Given the description of an element on the screen output the (x, y) to click on. 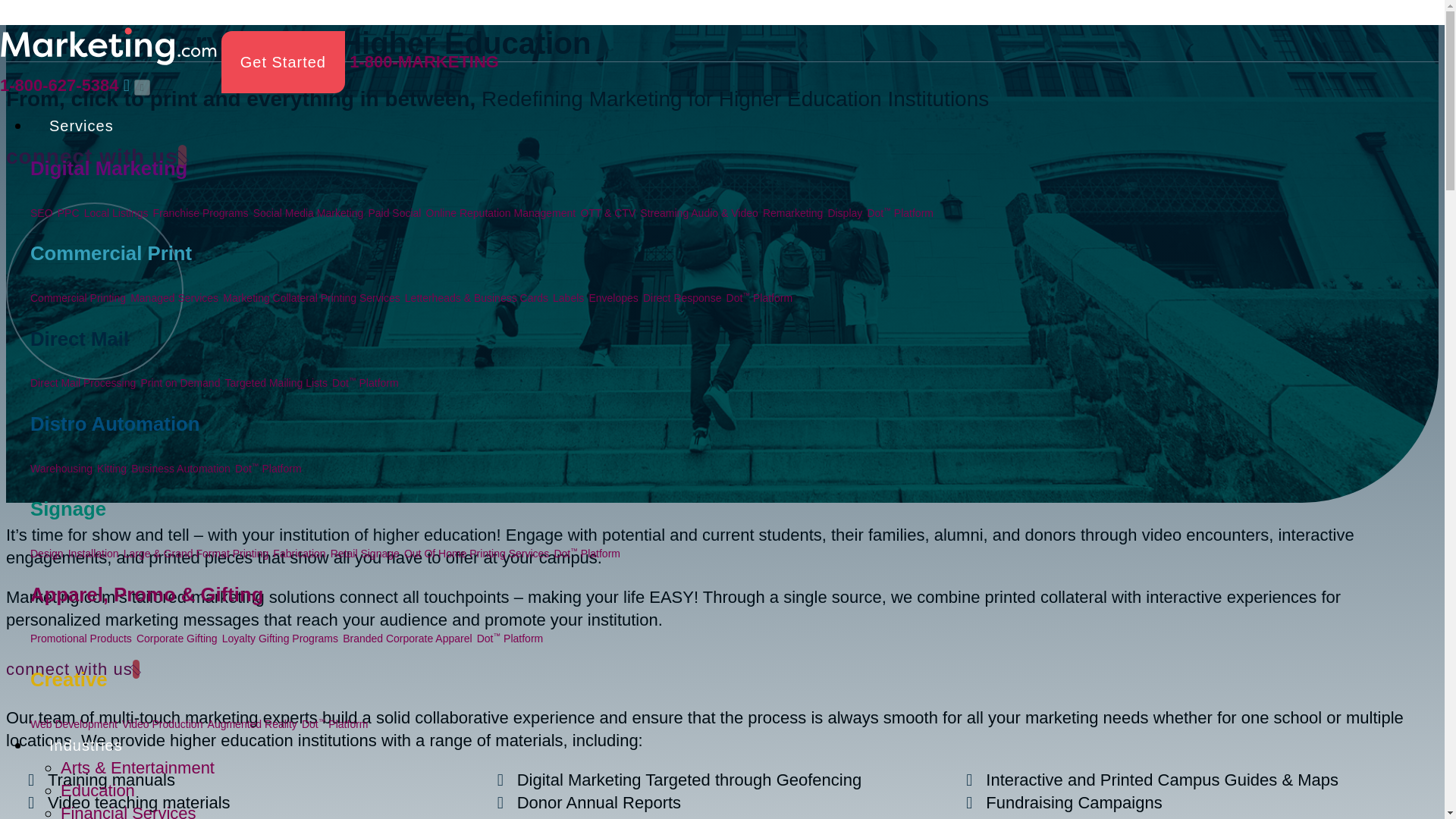
Franchise Programs (200, 213)
Labels (568, 297)
Commercial Printing (77, 297)
Print on Demand (179, 382)
Get Started (283, 62)
Kitting (111, 468)
PPC (69, 213)
Targeted Mailing Lists (276, 382)
SEO (41, 213)
Direct Mail Processing (82, 382)
